Given the description of an element on the screen output the (x, y) to click on. 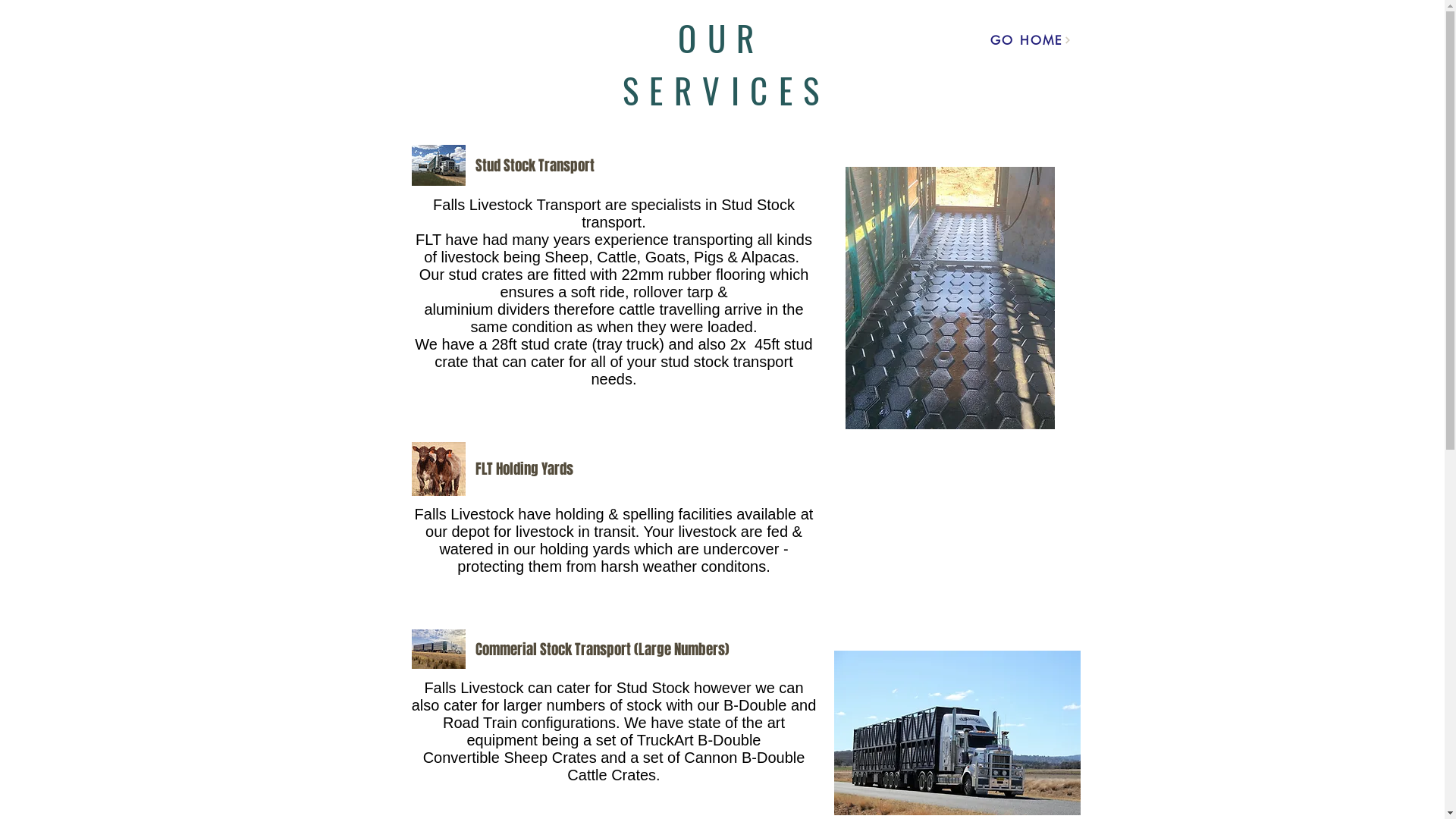
Calves.jpg Element type: hover (437, 468)
Coonong1.jpg Element type: hover (437, 164)
GO HOME Element type: text (1030, 40)
Road Train .jpg Element type: hover (437, 649)
